Given the description of an element on the screen output the (x, y) to click on. 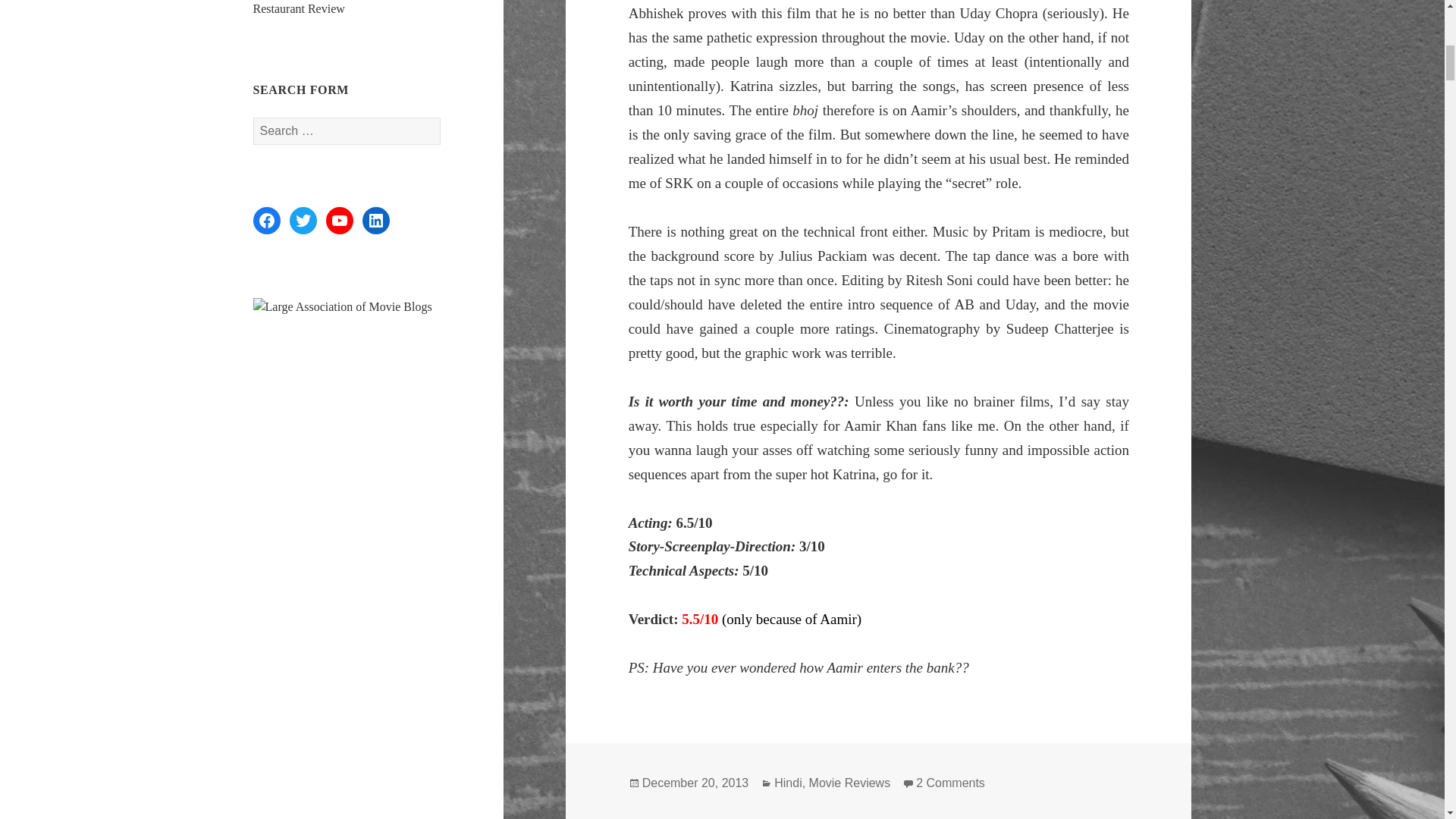
Facebook (267, 220)
December 20, 2013 (695, 783)
LinkedIn (376, 220)
YouTube (339, 220)
Hindi (788, 783)
Twitter (303, 220)
Movie Reviews (850, 783)
